Given the description of an element on the screen output the (x, y) to click on. 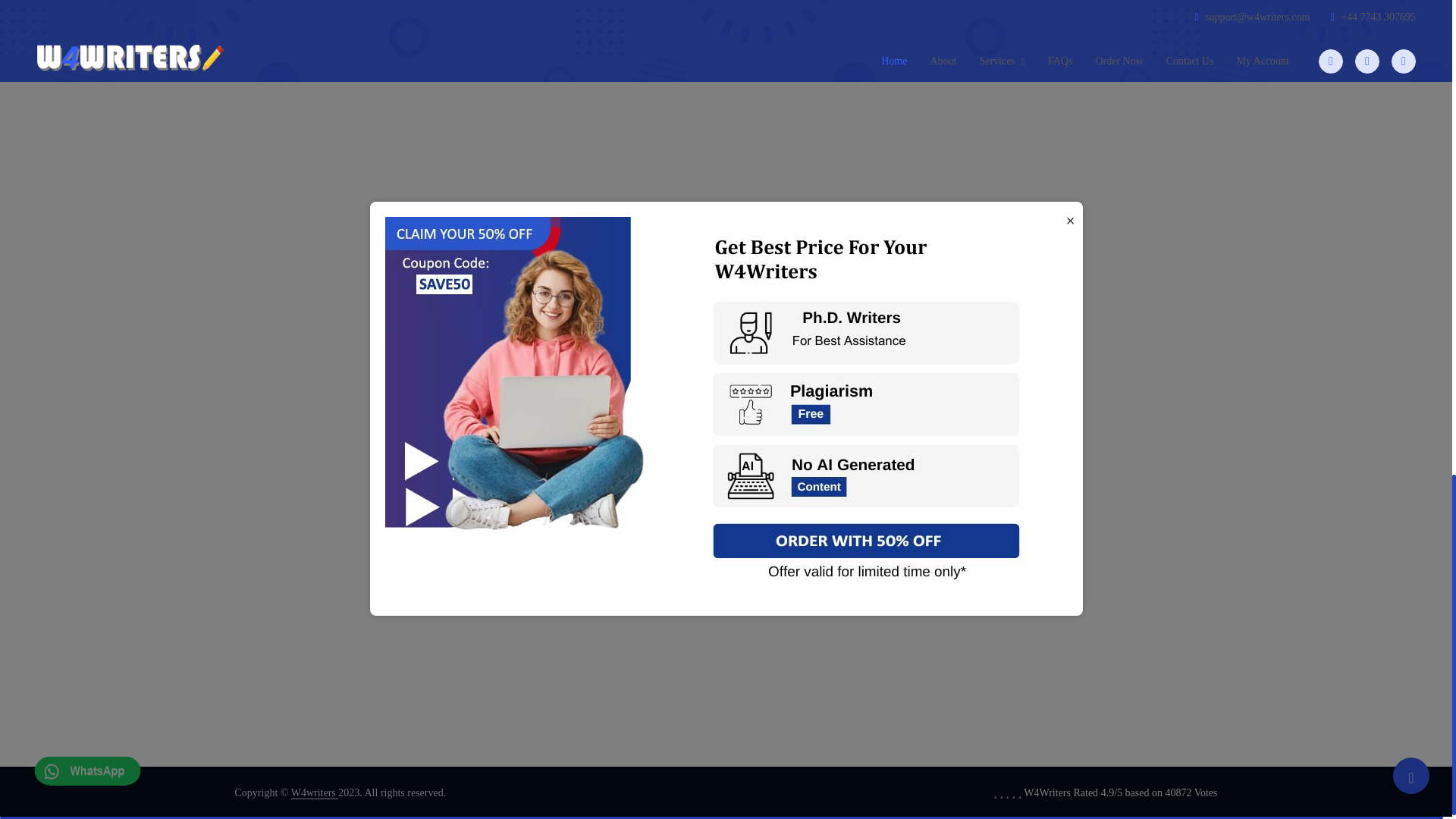
Read More (1070, 360)
Read More (1070, 106)
Read More (1070, 253)
